Given the description of an element on the screen output the (x, y) to click on. 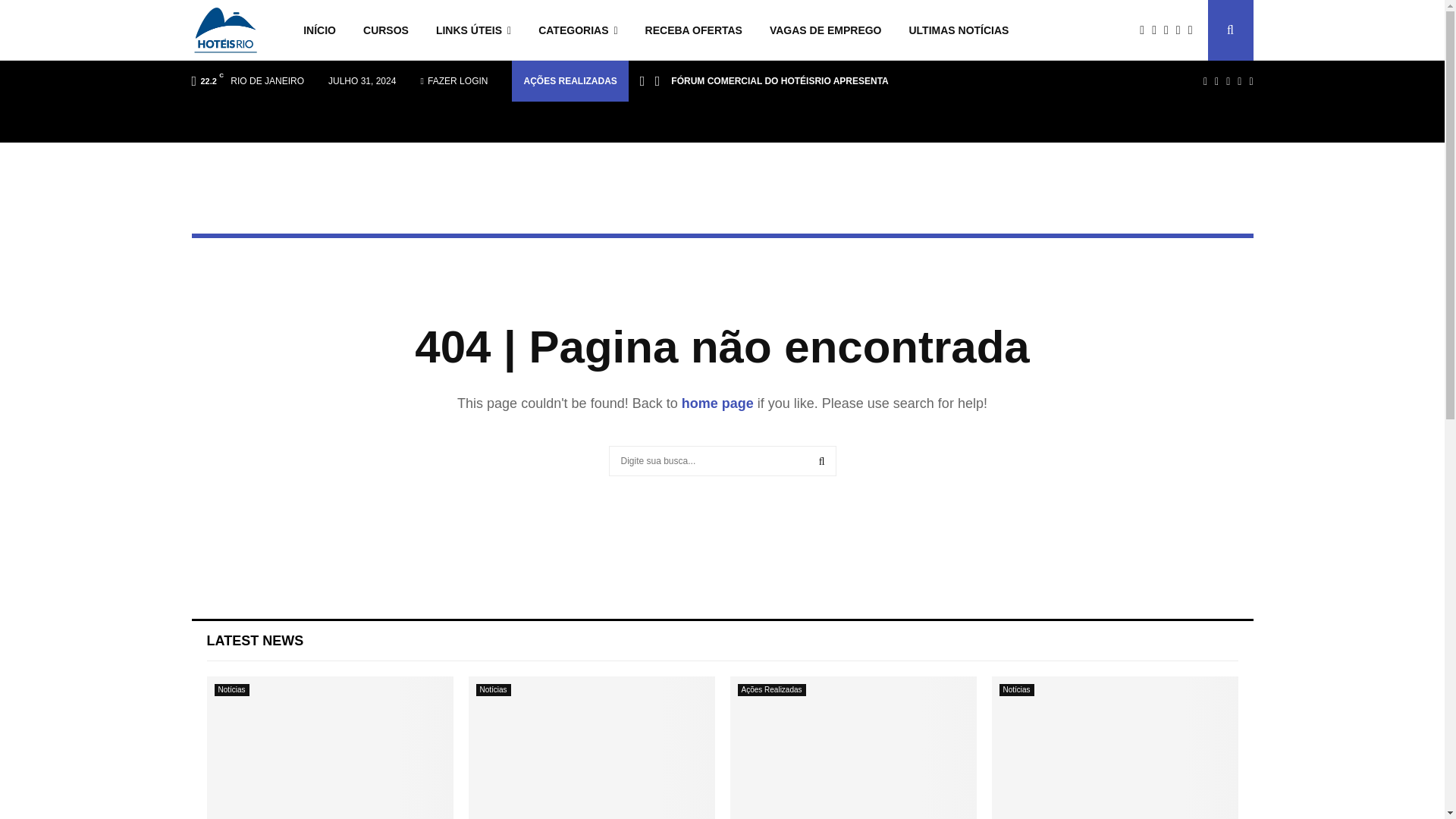
Sign up new account (722, 531)
VAGAS DE EMPREGO (825, 30)
Latest News (254, 640)
CATEGORIAS (577, 30)
FAZER LOGIN (453, 80)
Login to your account (722, 458)
CURSOS (385, 30)
RECEBA OFERTAS (693, 30)
